Given the description of an element on the screen output the (x, y) to click on. 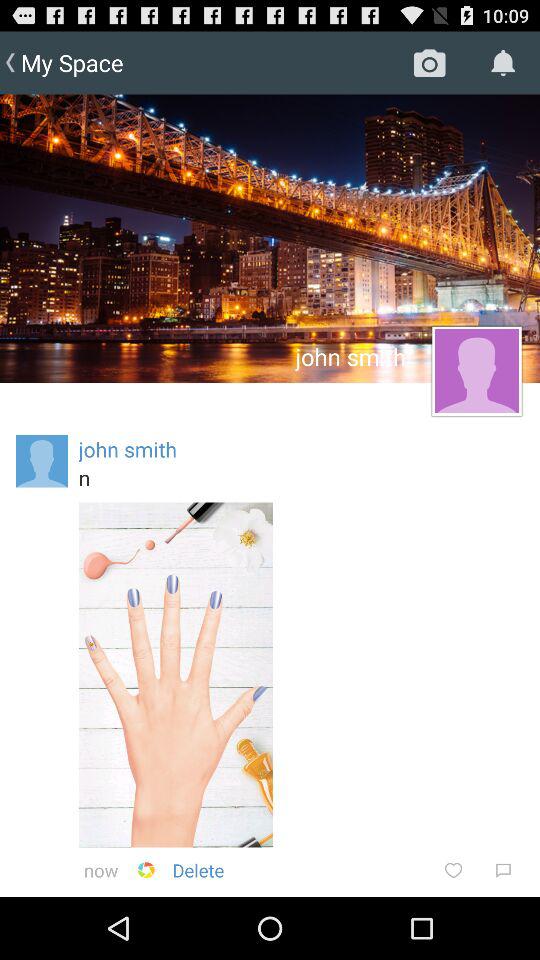
launch item below the n (453, 870)
